Given the description of an element on the screen output the (x, y) to click on. 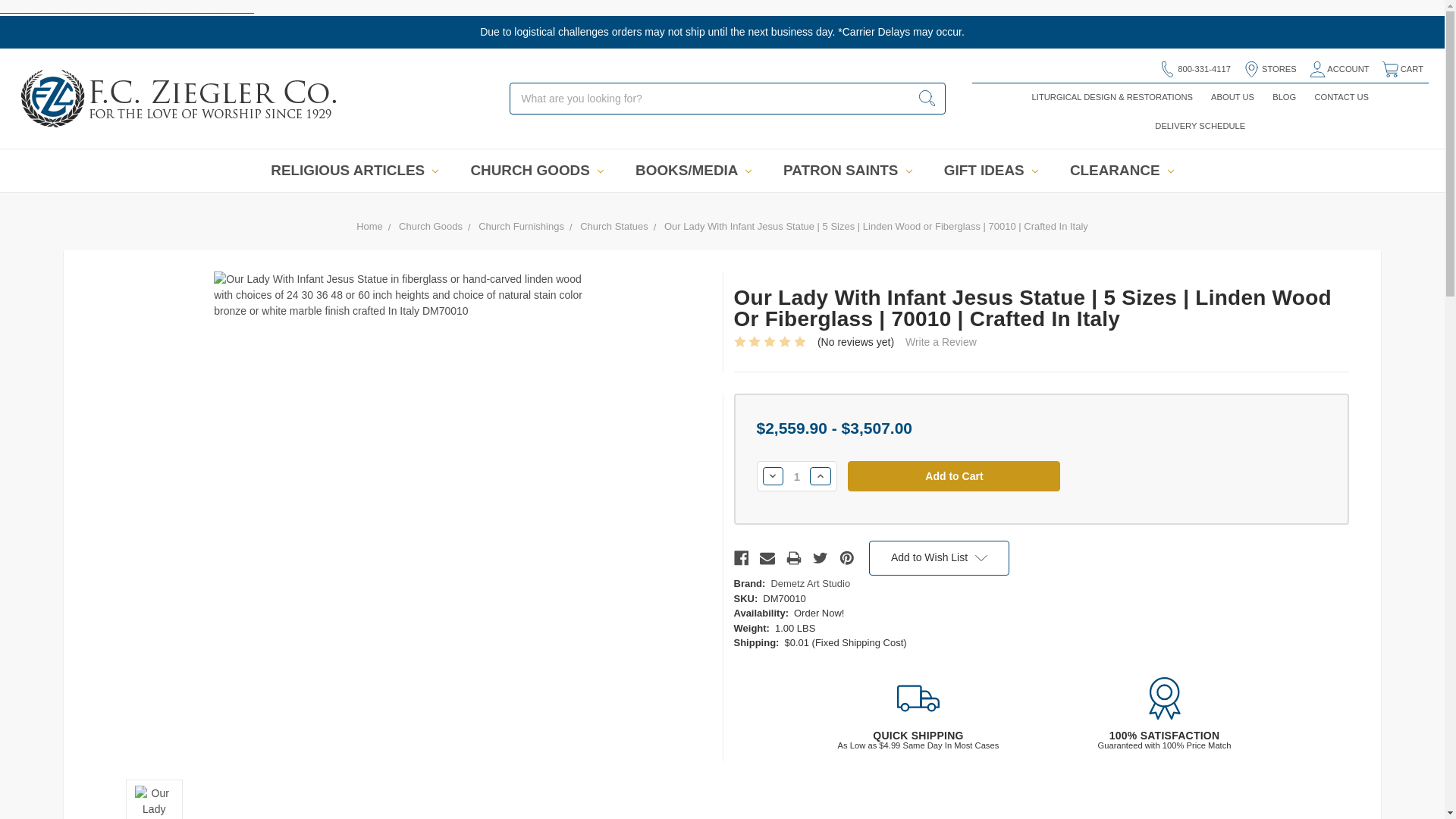
ACCOUNT (1337, 69)
F.C. Ziegler Company (178, 98)
CONTACT US (1341, 97)
1 (796, 476)
Add to Cart (953, 476)
CART (1401, 69)
STORES (1268, 69)
BLOG (1284, 97)
DELIVERY SCHEDULE (1200, 125)
